Given the description of an element on the screen output the (x, y) to click on. 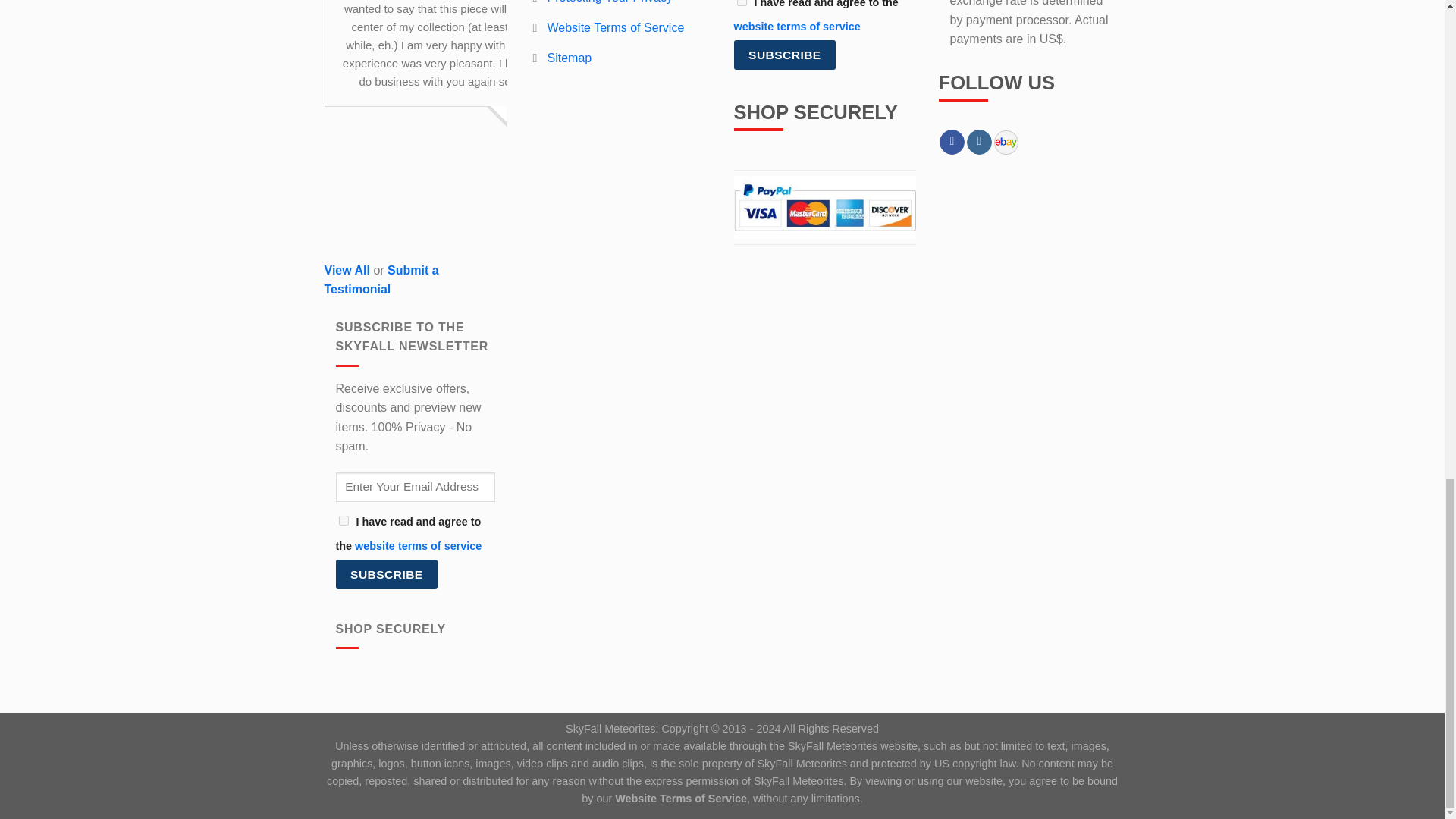
Follow on Instagram (978, 142)
Follow on Facebook (951, 142)
Subscribe (784, 54)
Subscribe (386, 573)
How PayPal Works (824, 206)
1 (741, 2)
Follow on Ebay (1005, 142)
1 (342, 520)
